Given the description of an element on the screen output the (x, y) to click on. 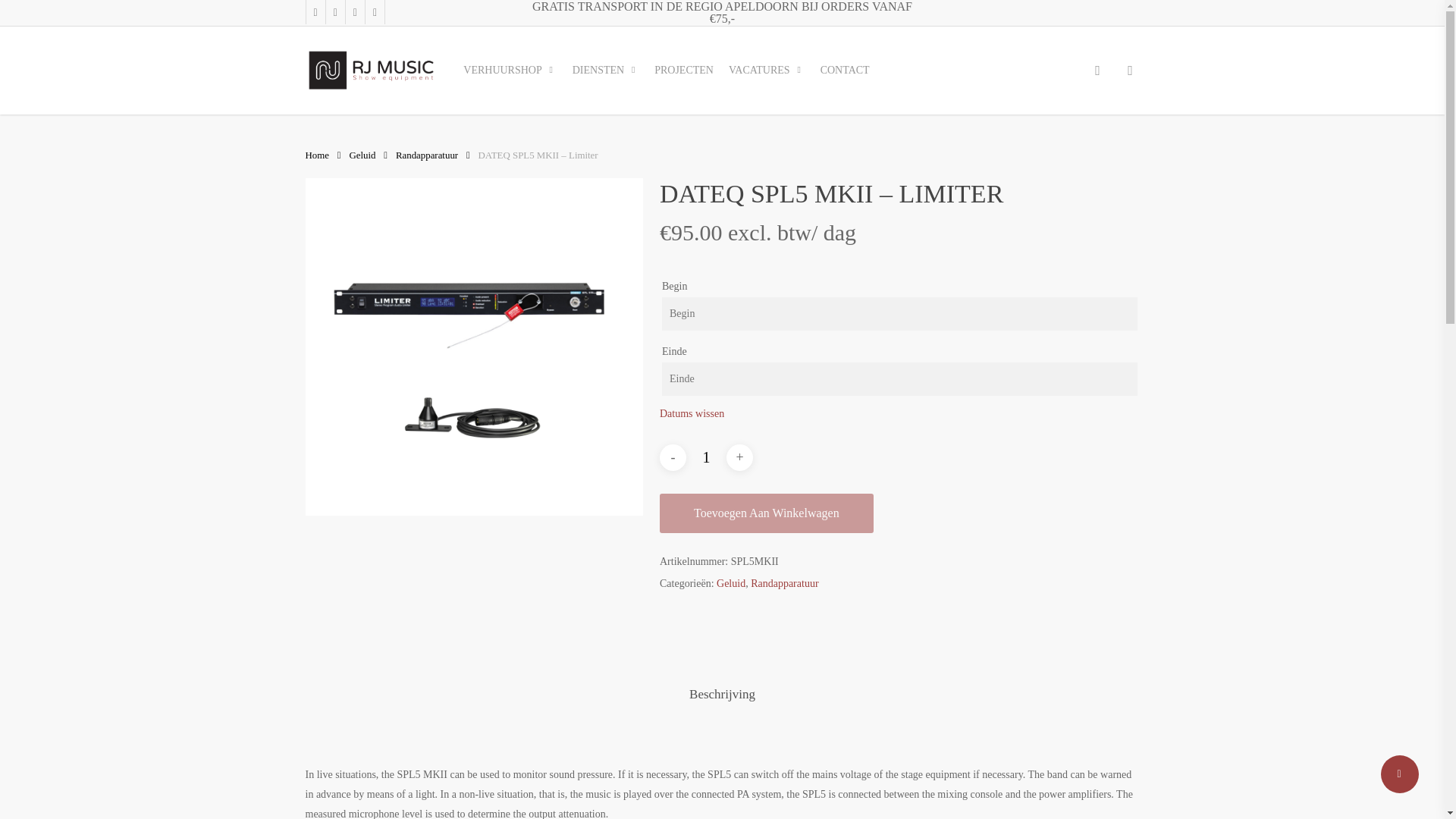
DIENSTEN (605, 70)
Geluid (362, 155)
CONTACT (844, 70)
account (1129, 70)
Home (316, 155)
1 (705, 457)
phone (355, 12)
PROJECTEN (683, 70)
facebook (314, 12)
Randapparatuur (427, 155)
VACATURES (766, 70)
- (672, 457)
email (374, 12)
VERHUURSHOP (509, 70)
instagram (334, 12)
